Given the description of an element on the screen output the (x, y) to click on. 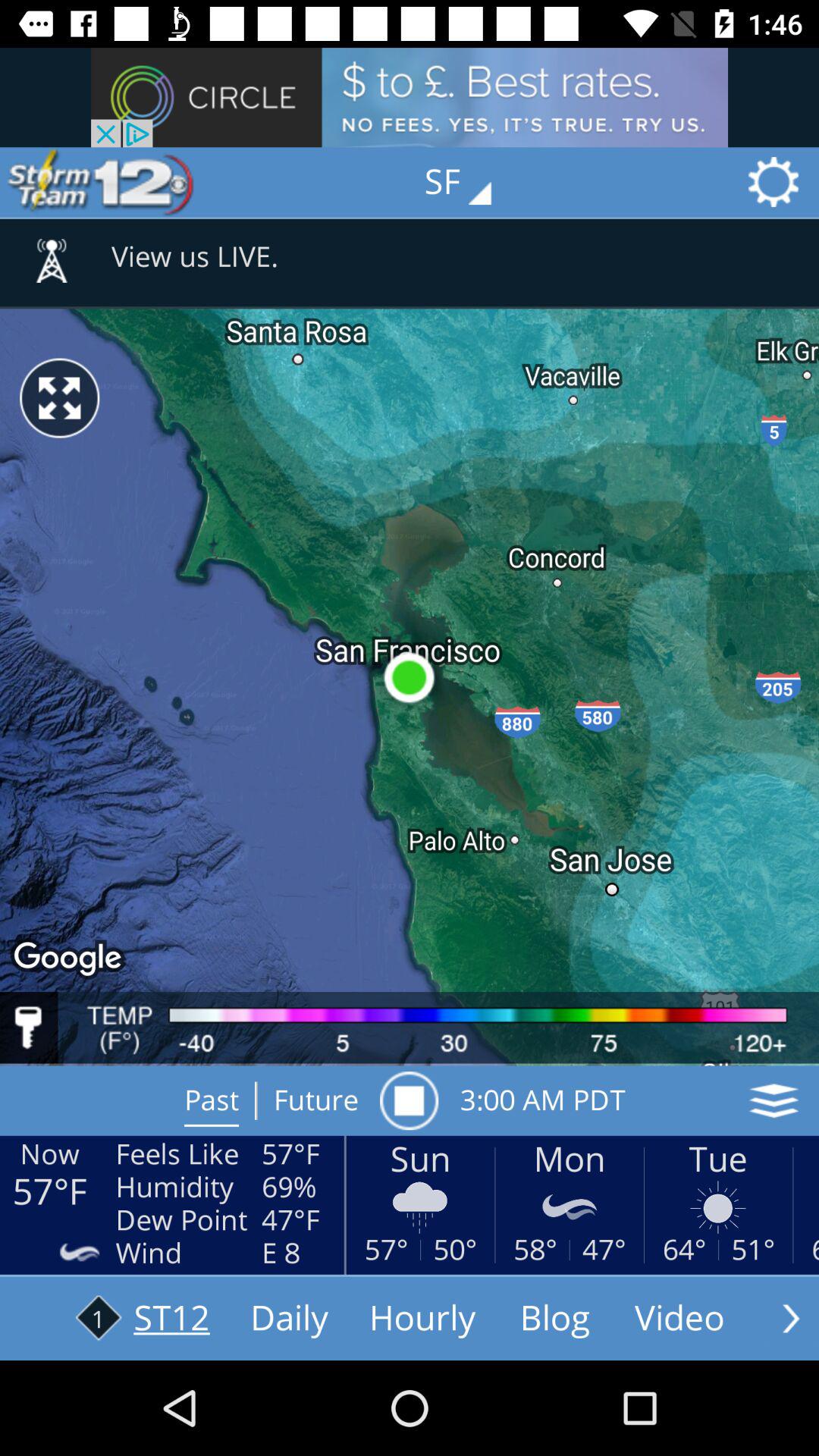
click sf icon (468, 182)
